Given the description of an element on the screen output the (x, y) to click on. 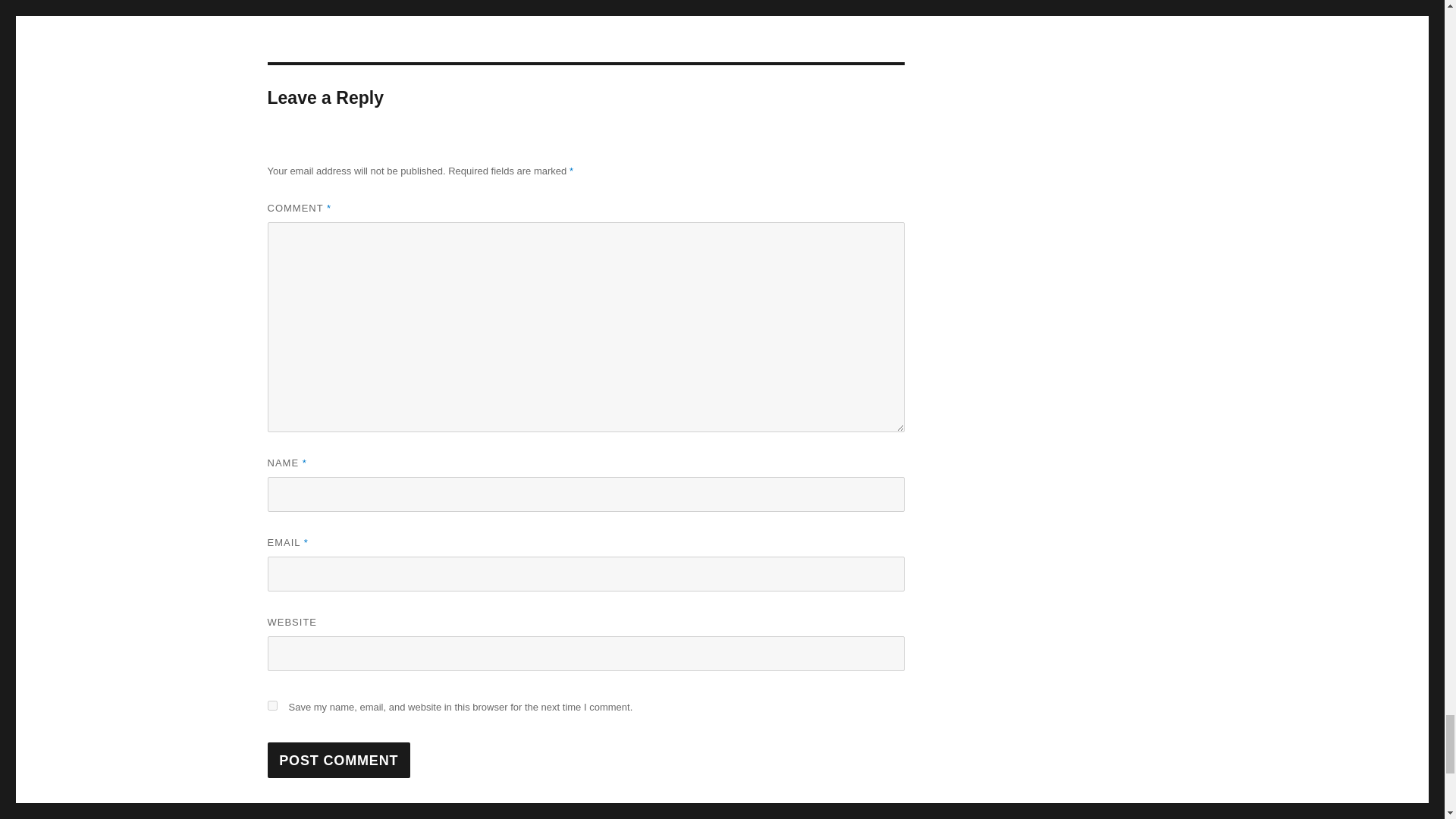
yes (271, 705)
Post Comment (338, 760)
Post Comment (338, 760)
